Given the description of an element on the screen output the (x, y) to click on. 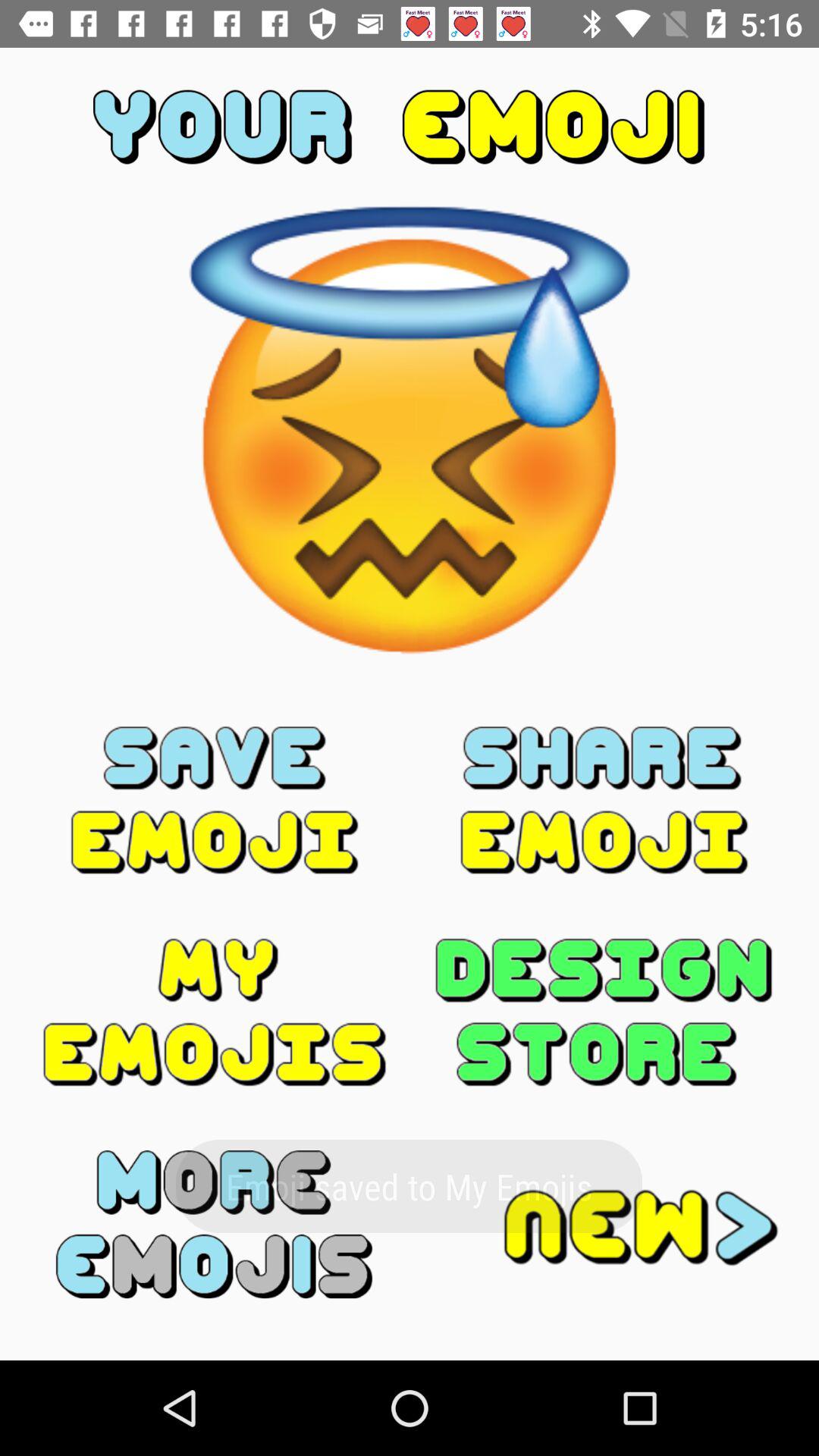
more emojis (214, 1224)
